Given the description of an element on the screen output the (x, y) to click on. 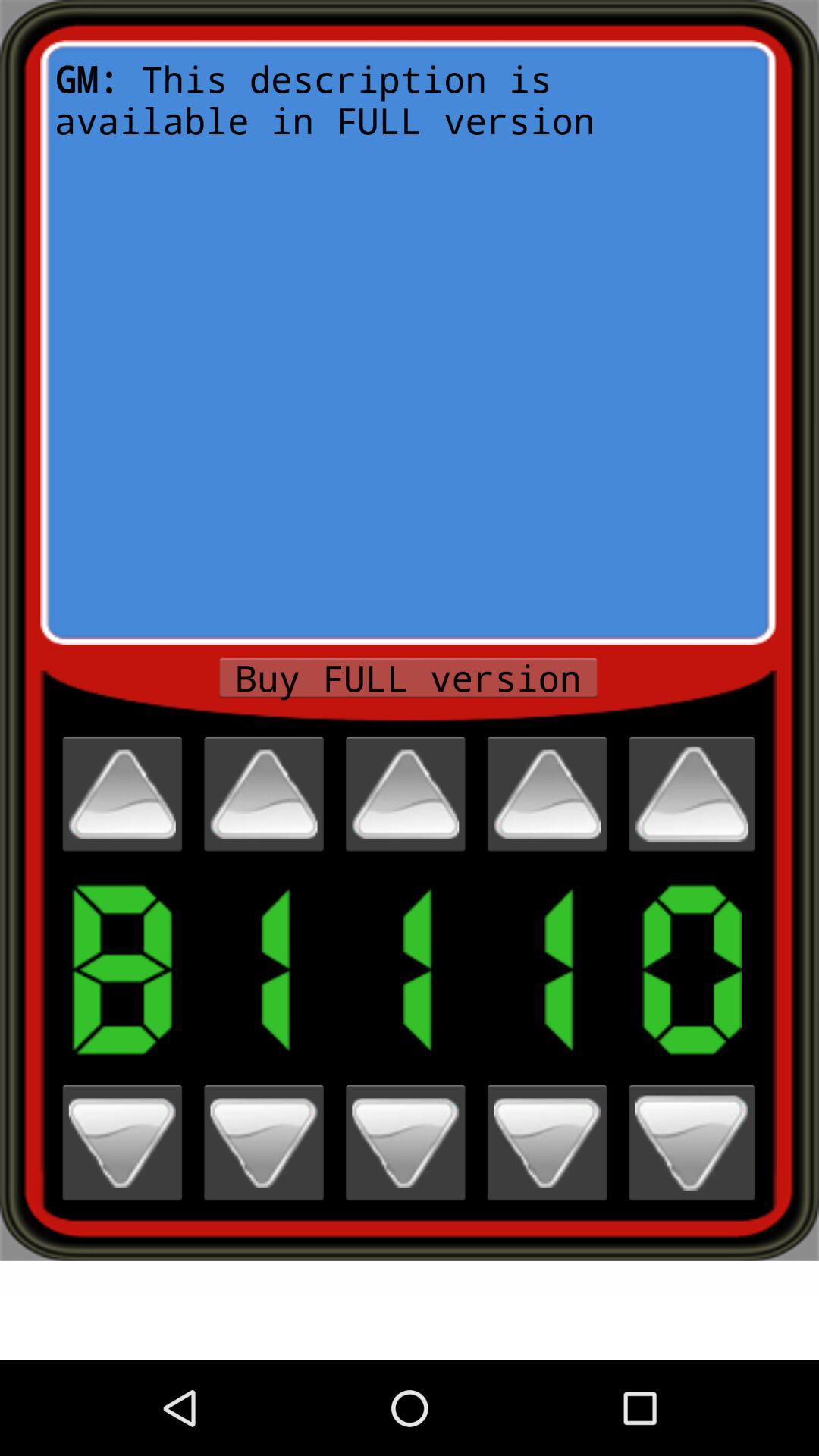
tap gm this description app (408, 342)
